Given the description of an element on the screen output the (x, y) to click on. 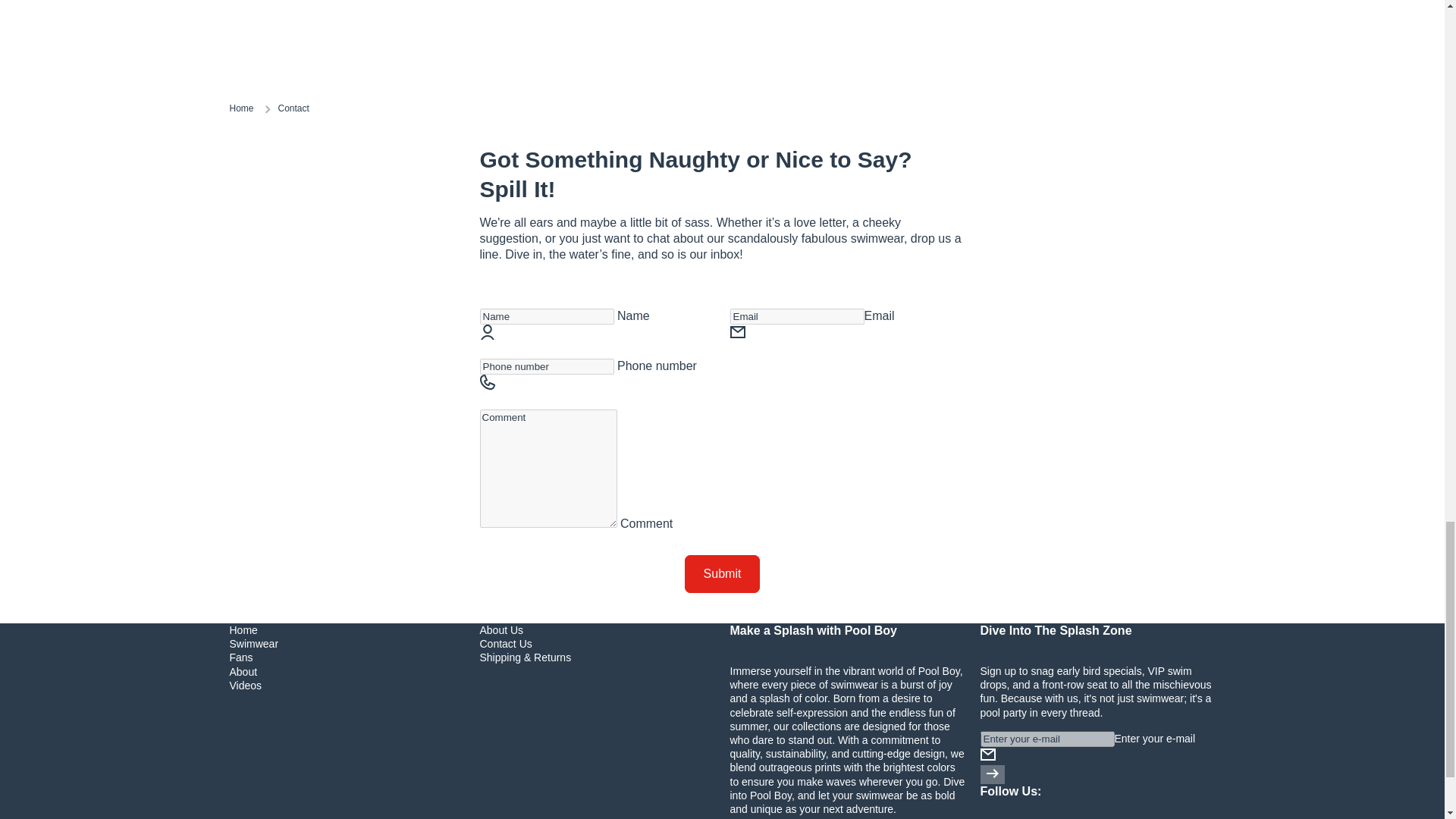
Home (240, 109)
About (242, 671)
Videos (245, 685)
Contact Us (505, 643)
Fans (239, 657)
Submit (722, 573)
Home (242, 630)
About Us (500, 630)
Swimwear (253, 643)
